Given the description of an element on the screen output the (x, y) to click on. 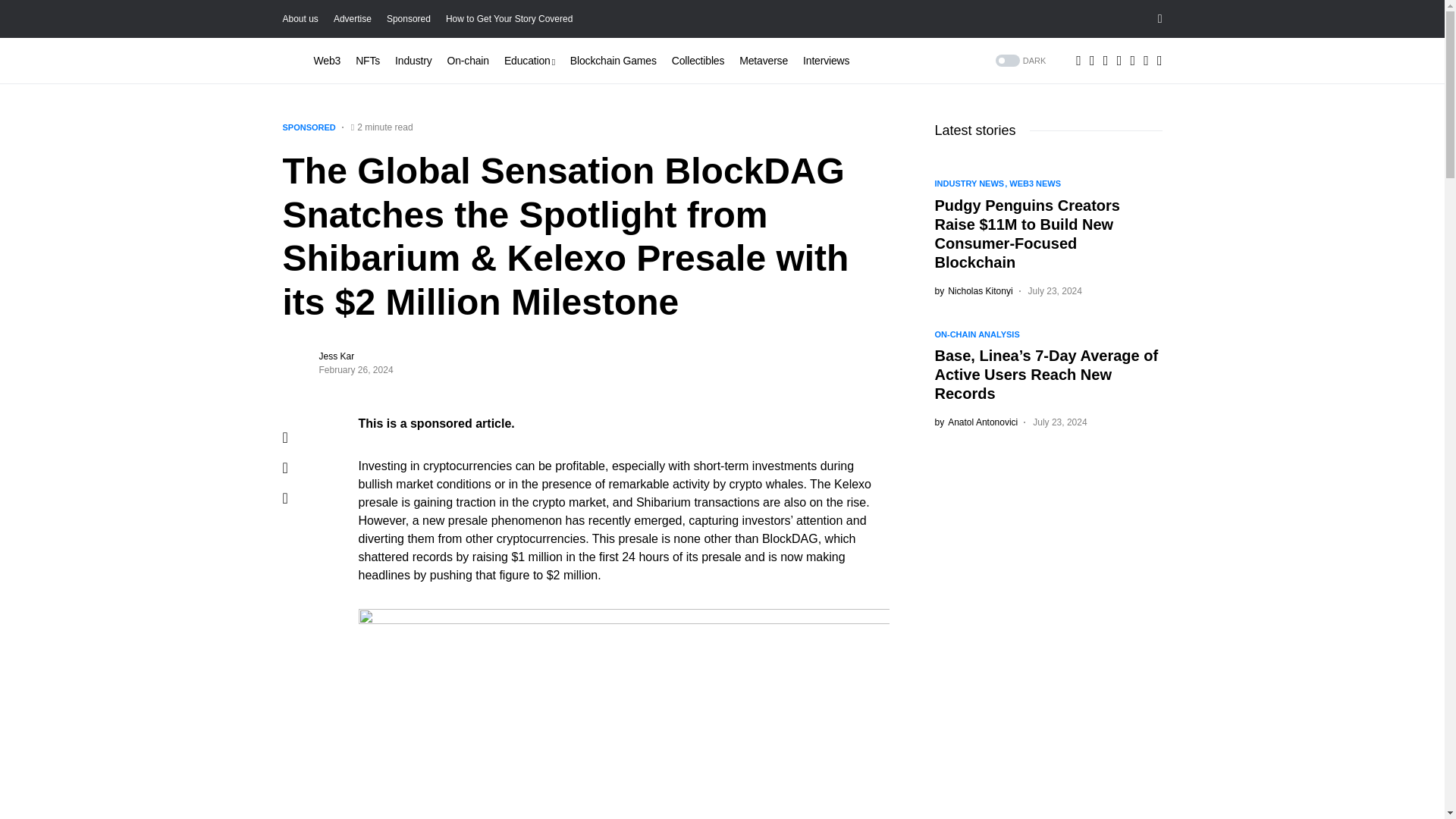
Collectibles (698, 60)
View all posts by Nicholas Kitonyi (972, 290)
Sponsored (408, 18)
How to Get Your Story Covered (508, 18)
NFTs (367, 60)
Industry (412, 60)
On-chain (467, 60)
Interviews (825, 60)
Education (528, 60)
About us (299, 18)
Web3 (327, 60)
Metaverse (763, 60)
View all posts by Anatol Antonovici (975, 422)
Advertise (352, 18)
Blockchain Games (613, 60)
